Given the description of an element on the screen output the (x, y) to click on. 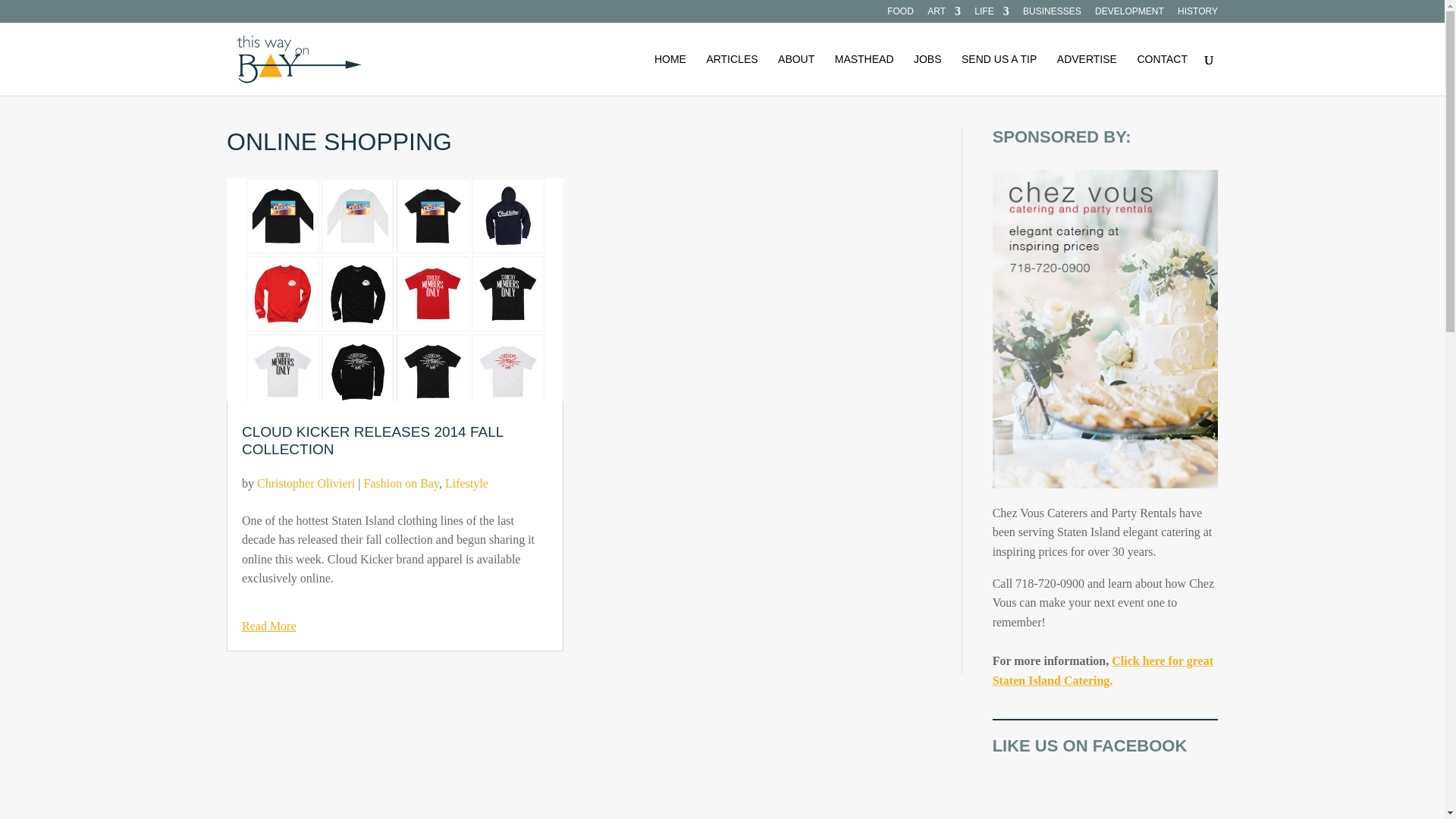
CONTACT (1162, 74)
ART (943, 14)
DEVELOPMENT (1128, 14)
FOOD (900, 14)
ABOUT (795, 74)
Posts by Christopher Olivieri (306, 482)
MASTHEAD (863, 74)
LIFE (991, 14)
SEND US A TIP (998, 74)
ADVERTISE (1086, 74)
HOME (669, 74)
JOBS (928, 74)
Chez Vous Caterers Advertisement (1104, 328)
HISTORY (1197, 14)
BUSINESSES (1052, 14)
